Given the description of an element on the screen output the (x, y) to click on. 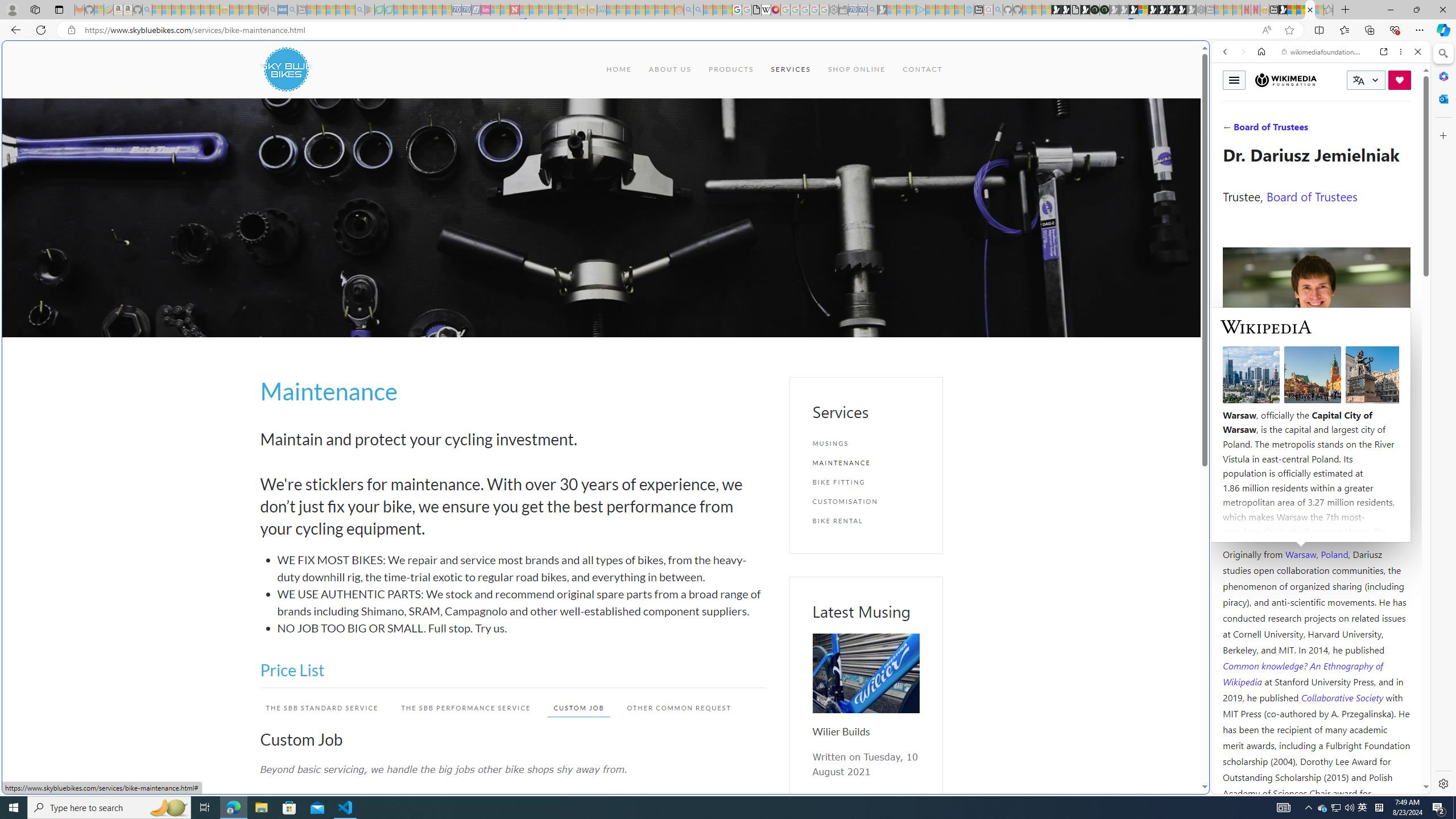
Microsoft Start Gaming - Sleeping (881, 9)
Wikimedia Foundation (1286, 79)
Jobs - lastminute.com Investor Portal - Sleeping (485, 9)
CURRENT LANGUAGE: (1366, 80)
Harvard University (1259, 526)
World - MSN (727, 389)
